Given the description of an element on the screen output the (x, y) to click on. 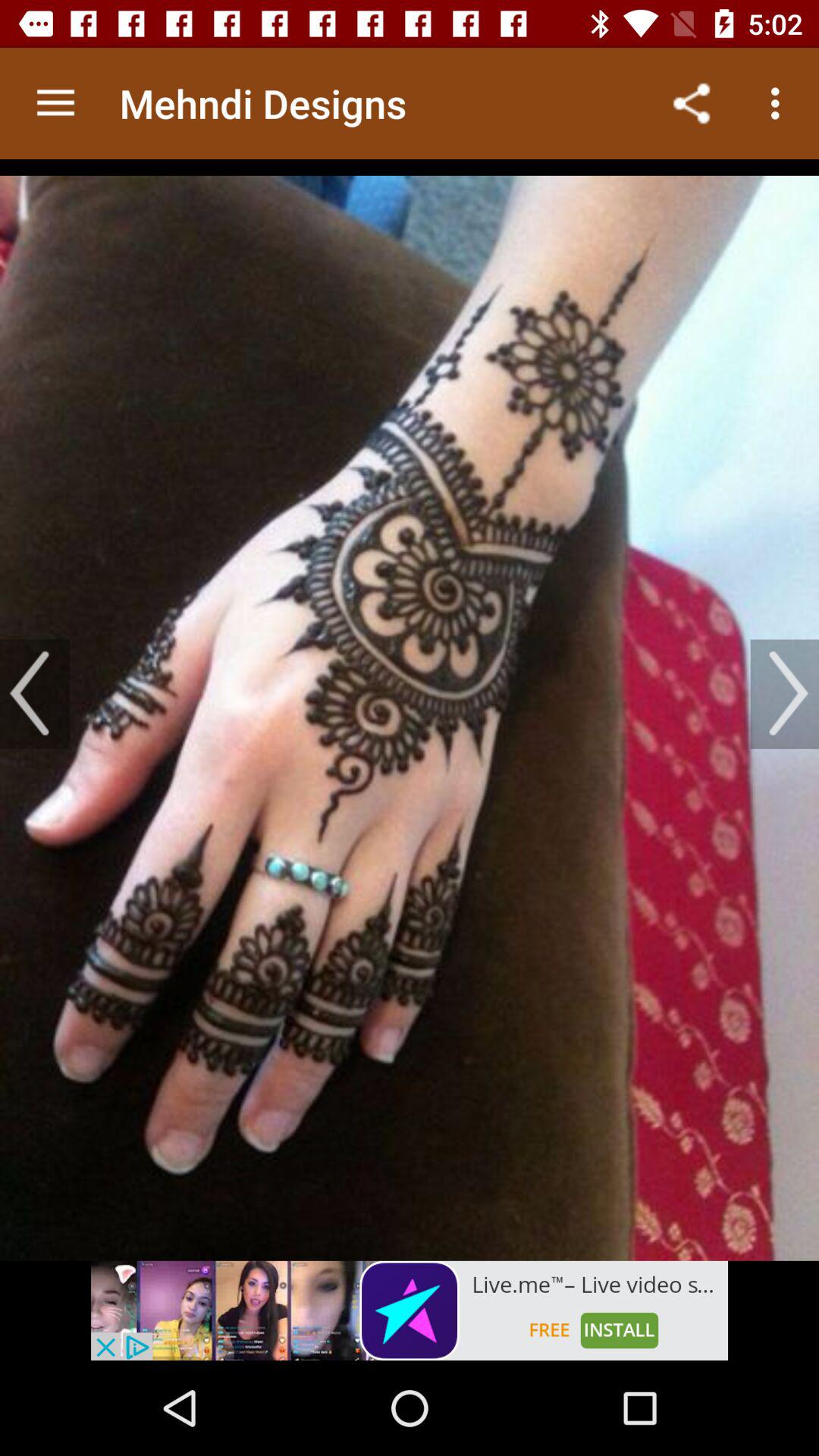
open design (409, 709)
